Given the description of an element on the screen output the (x, y) to click on. 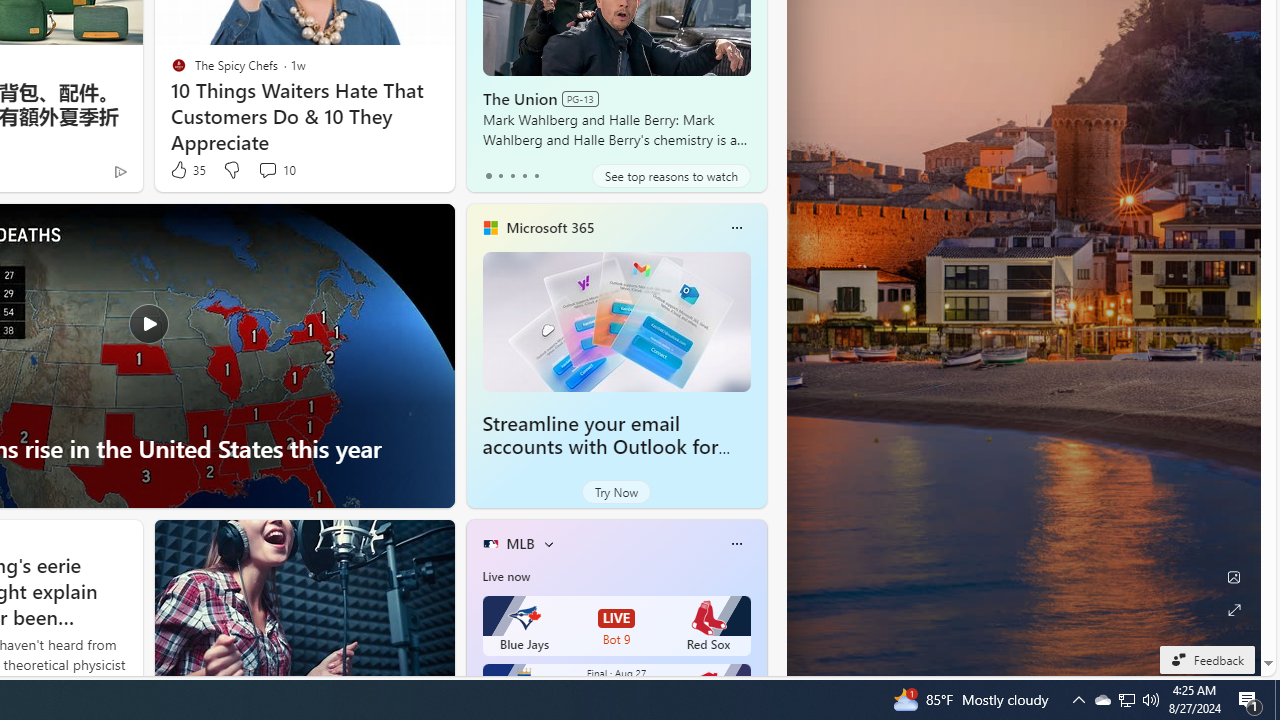
View comments 10 Comment (276, 170)
MLB (520, 543)
More interests (548, 543)
See top reasons to watch (671, 175)
35 Like (186, 170)
